Given the description of an element on the screen output the (x, y) to click on. 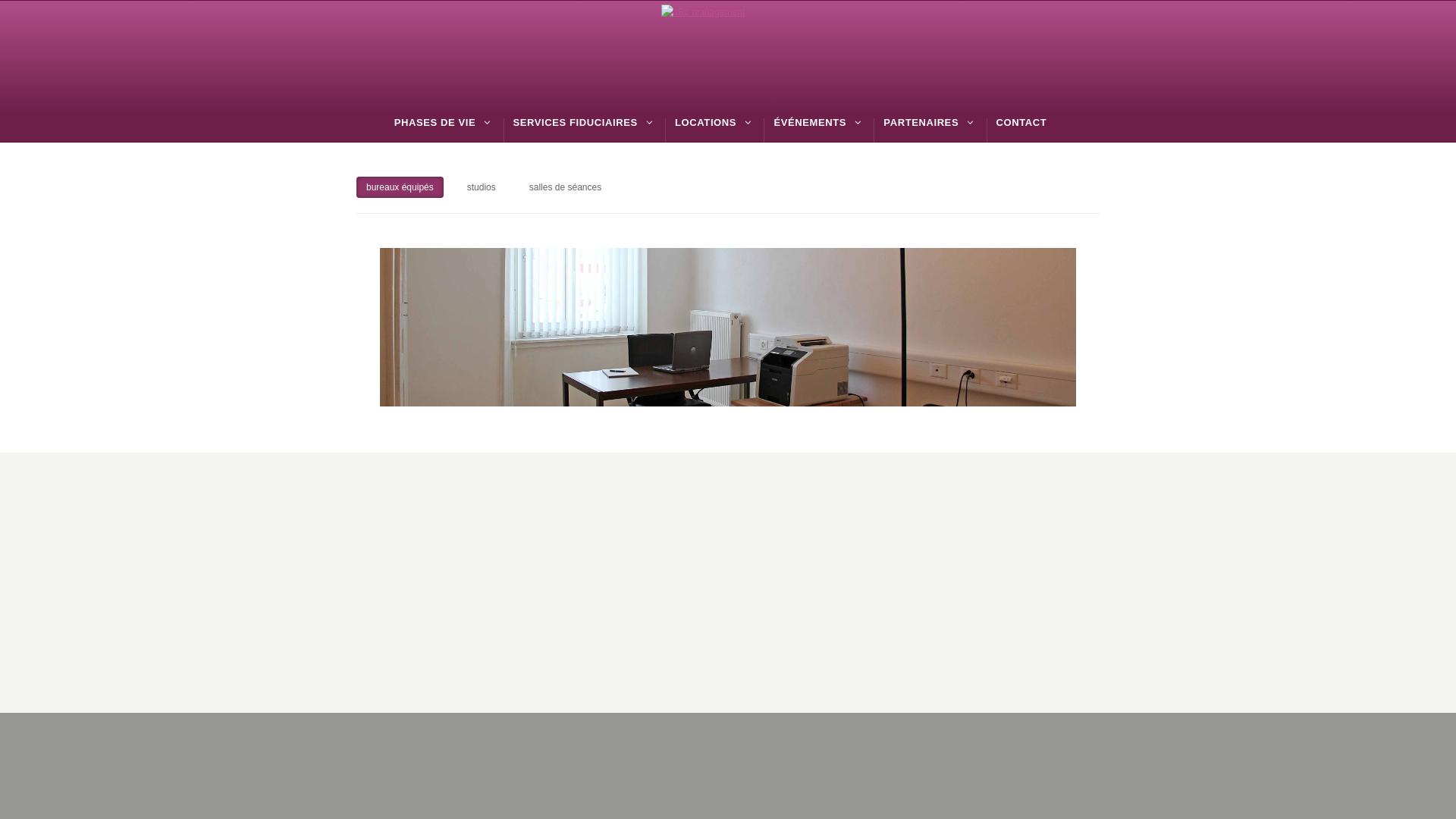
LOCATIONS Element type: text (705, 122)
PARTENAIRES Element type: text (920, 122)
studios Element type: text (481, 186)
PHASES DE VIE Element type: text (435, 122)
SERVICES FIDUCIAIRES Element type: text (575, 122)
CONTACT Element type: text (1021, 122)
